Given the description of an element on the screen output the (x, y) to click on. 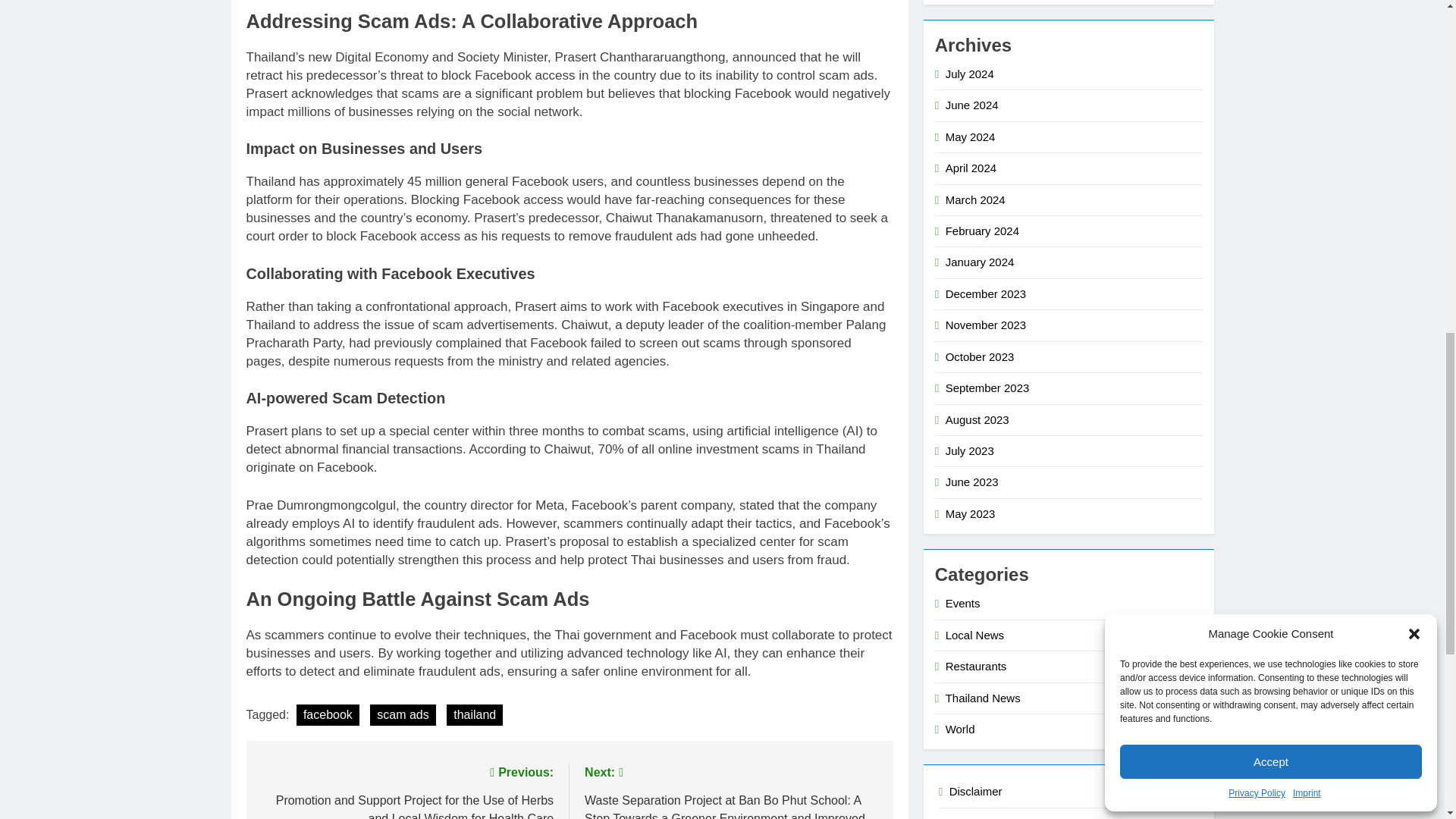
facebook (328, 714)
scam ads (402, 714)
thailand (474, 714)
